Given the description of an element on the screen output the (x, y) to click on. 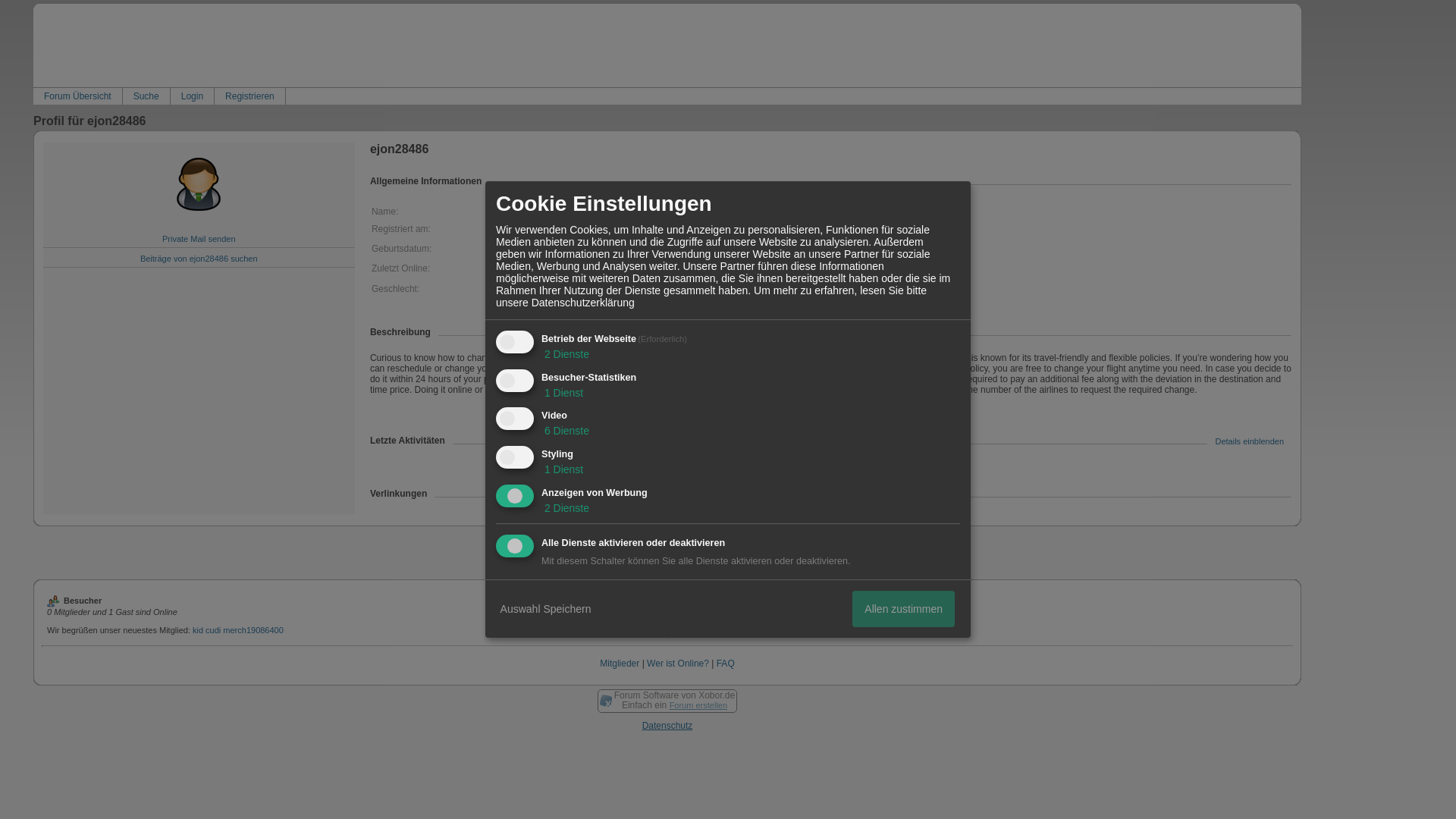
FAQ (725, 663)
1 Dienst (562, 469)
Suche (146, 95)
Mitglieder (619, 663)
Melden Sie sich an (589, 542)
Private Mail senden (198, 238)
6 Dienste (565, 430)
Forum erstellen (697, 705)
Registrieren (249, 95)
Login (192, 95)
Details einblenden (1249, 440)
Wer ist Online? (677, 663)
2 Dienste (565, 508)
2 Dienste (565, 354)
kid cudi merch19086400 (237, 629)
